Given the description of an element on the screen output the (x, y) to click on. 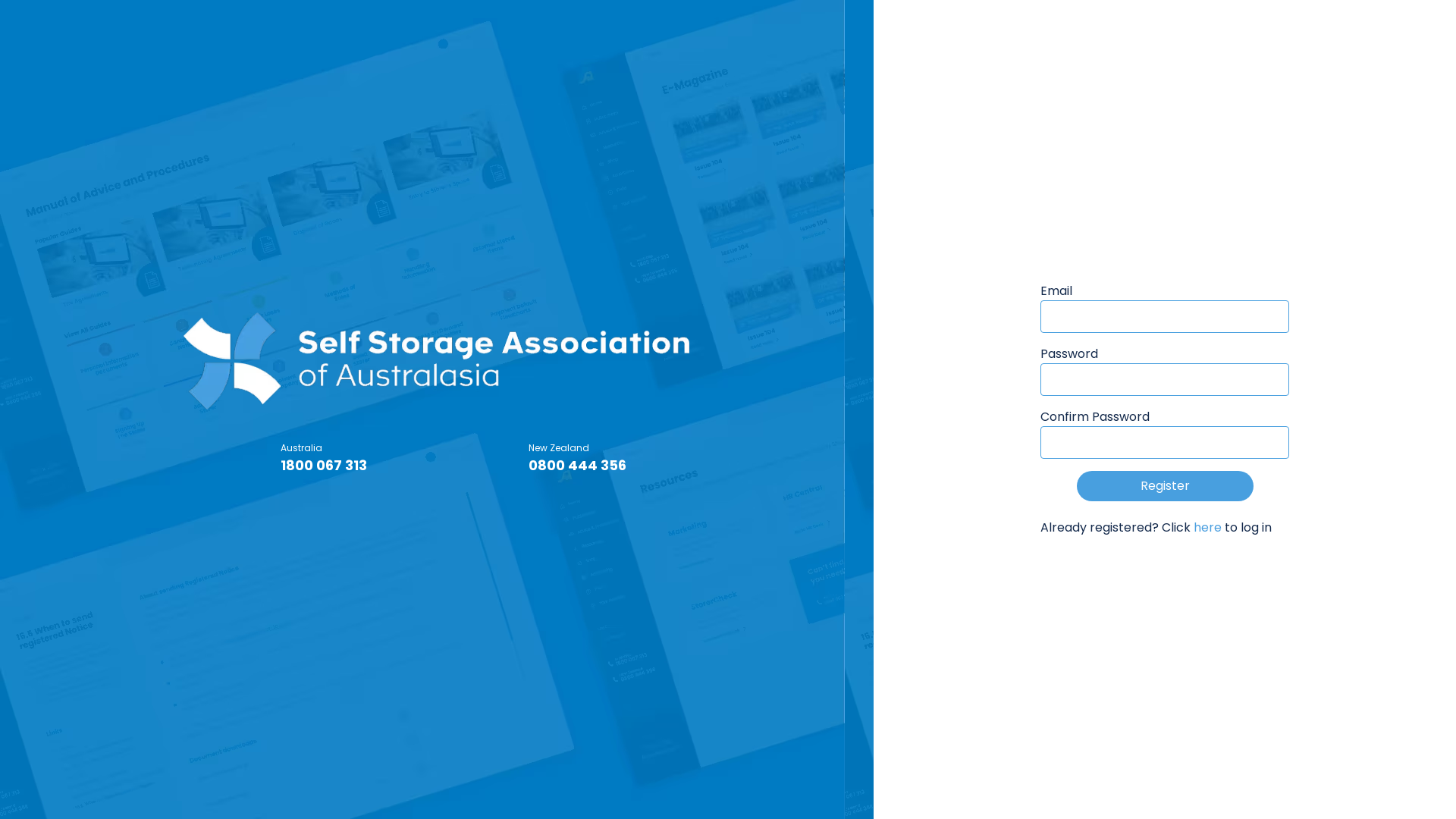
Australia 
1800 067 313  Element type: text (325, 458)
here Element type: text (1207, 527)
New Zealand 
0800 444 356  Element type: text (577, 458)
